Given the description of an element on the screen output the (x, y) to click on. 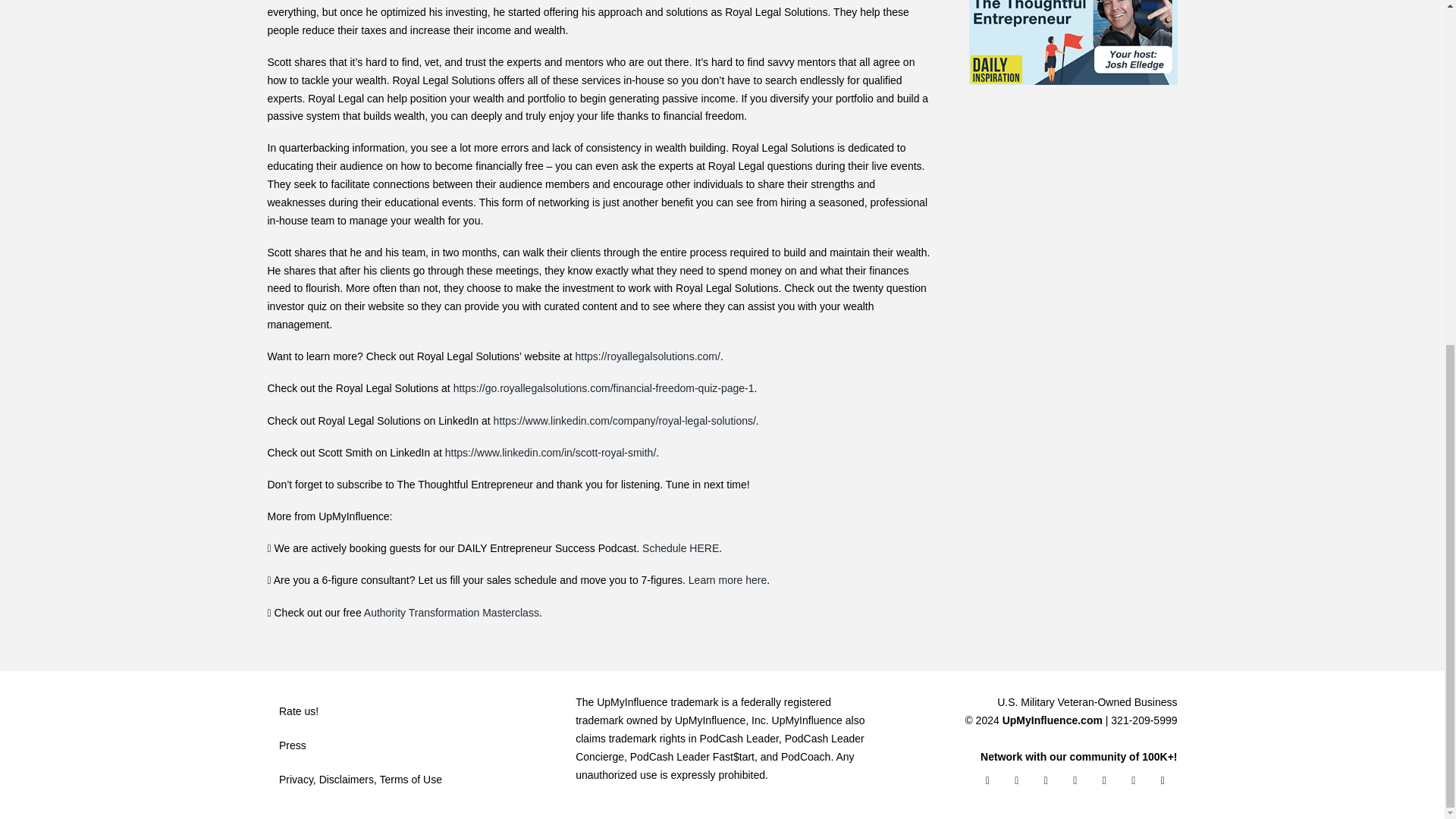
Learn more here (726, 580)
Rate us! (413, 710)
Authority Transformation Masterclass (449, 612)
Schedule HERE (679, 548)
